Given the description of an element on the screen output the (x, y) to click on. 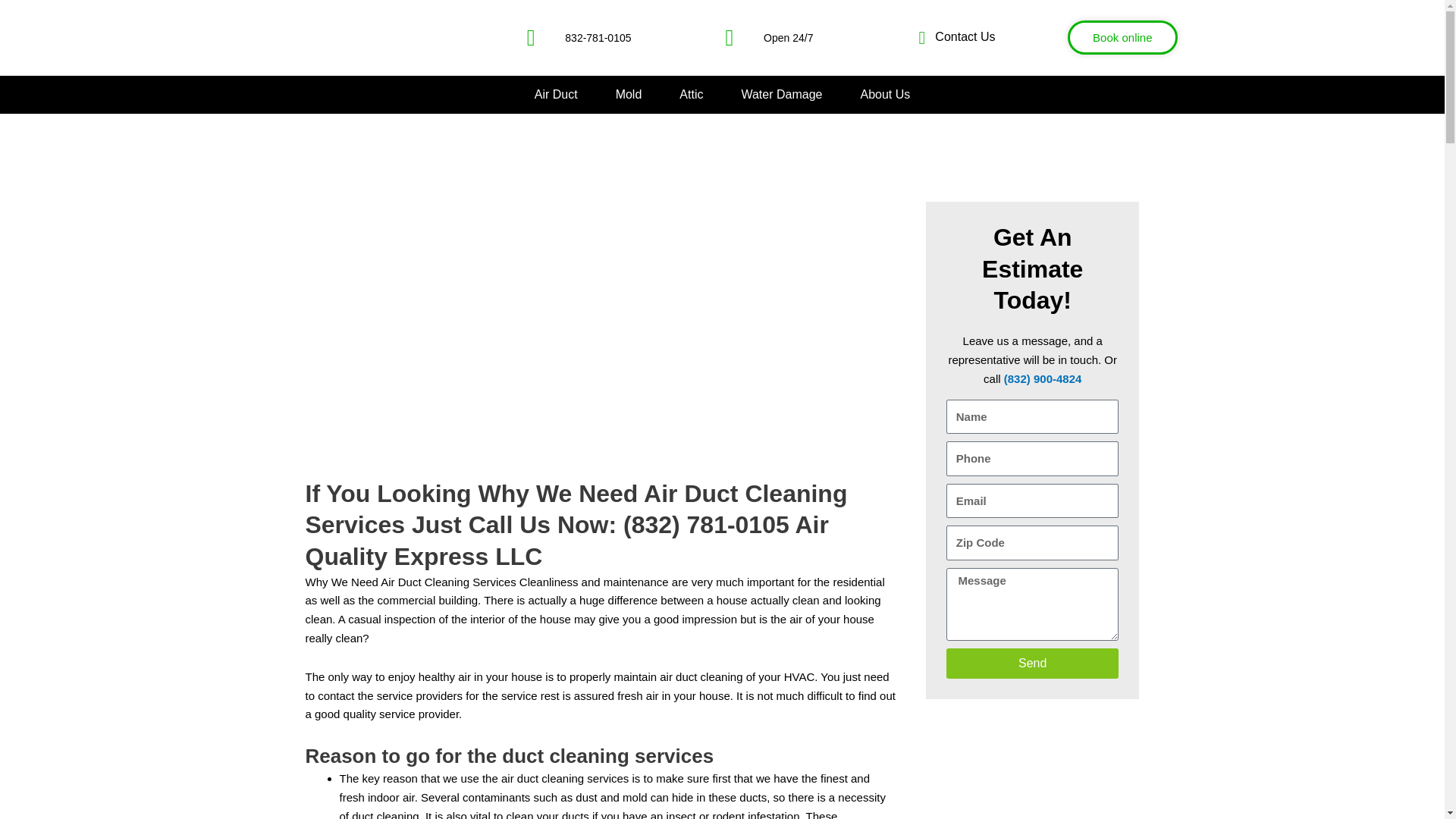
Air Duct (556, 94)
Mold (628, 94)
About Us (885, 94)
832-781-0105 (553, 37)
Contact Us (948, 36)
Water Damage (781, 94)
Attic (691, 94)
Book online (1121, 37)
